Given the description of an element on the screen output the (x, y) to click on. 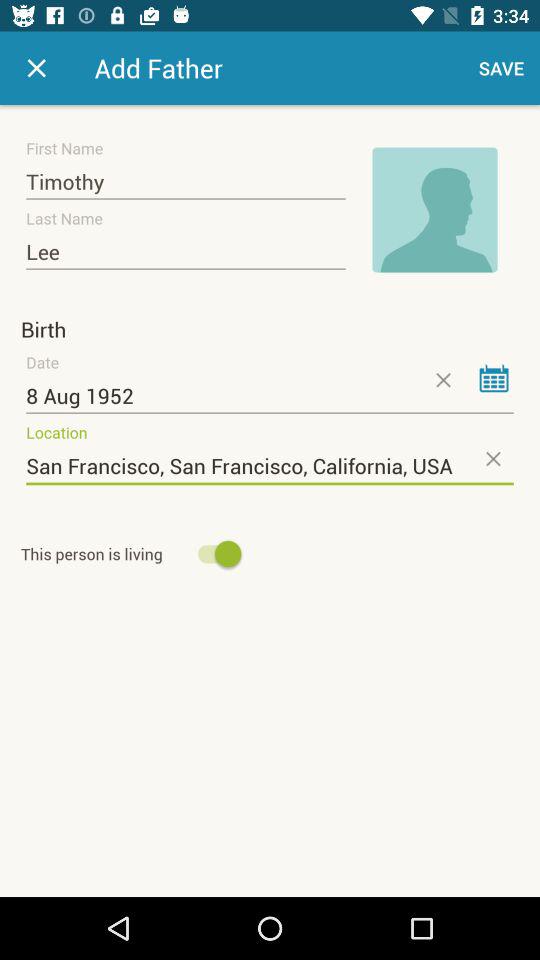
turn on the item above the this person is icon (270, 466)
